Given the description of an element on the screen output the (x, y) to click on. 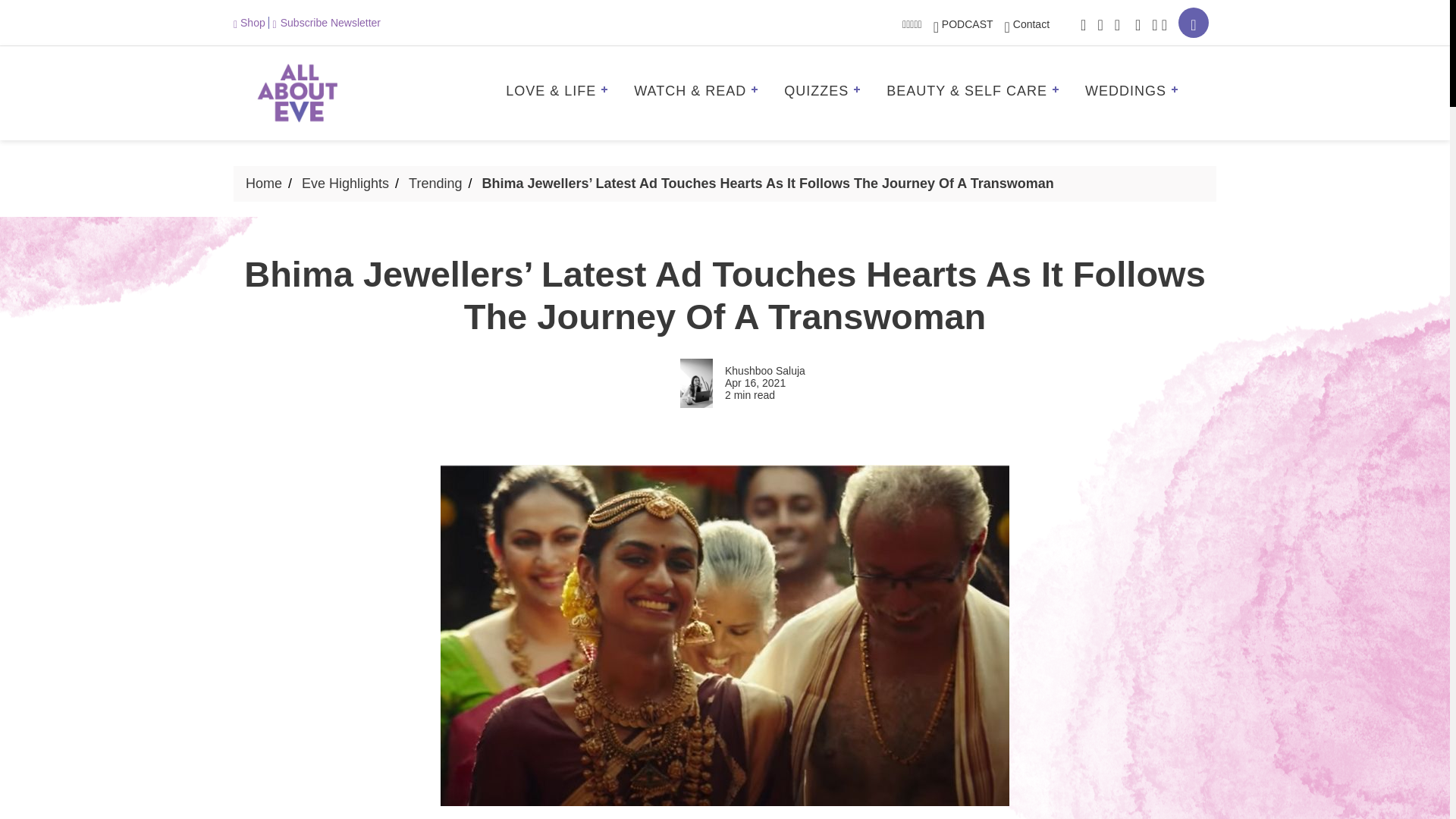
Contact (1026, 24)
Home (264, 183)
QUIZZES (827, 92)
PODCAST (962, 24)
Subscribe Newsletter (326, 22)
Shop (250, 22)
